Given the description of an element on the screen output the (x, y) to click on. 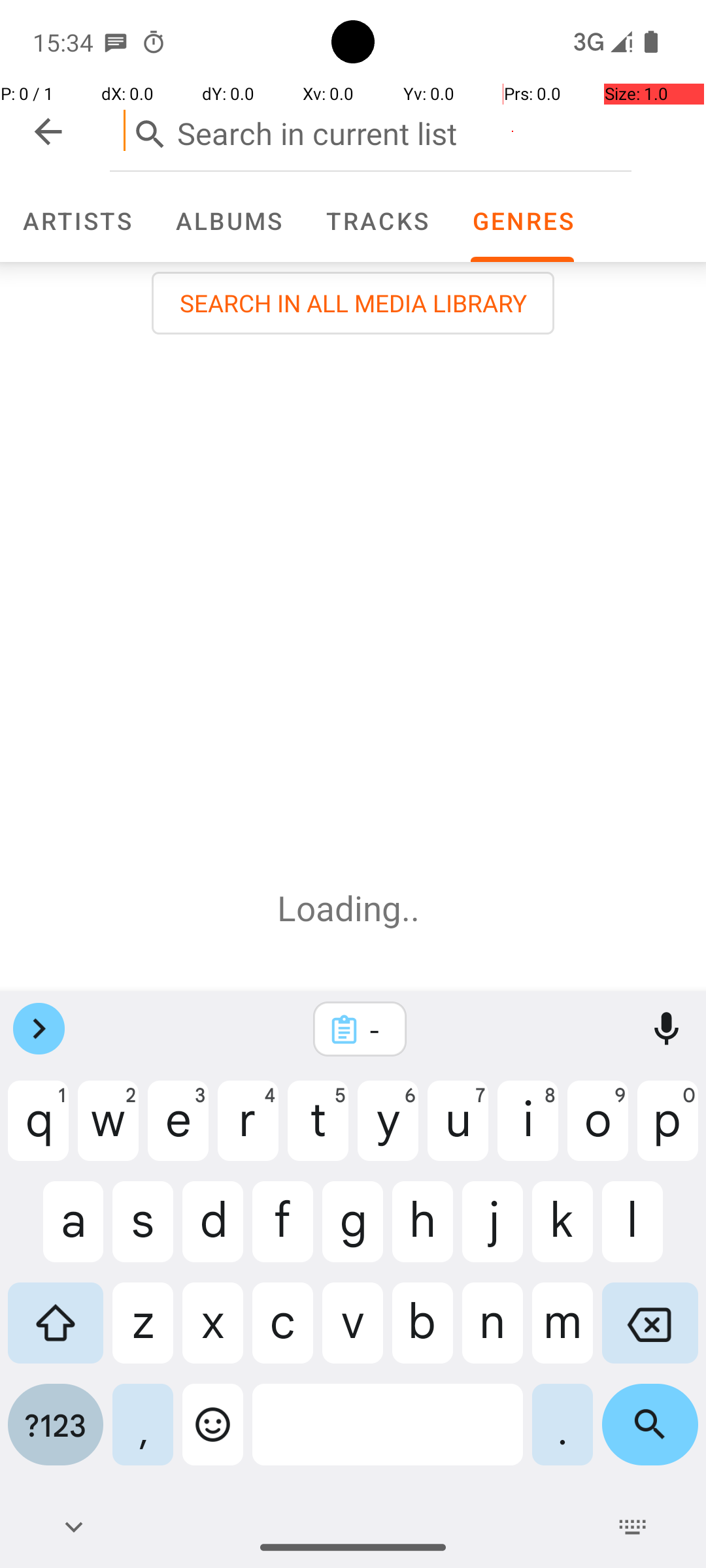
SEARCH IN ALL MEDIA LIBRARY Element type: android.widget.Button (352, 302)
   Search in current list Element type: android.widget.AutoCompleteTextView (370, 130)
